Given the description of an element on the screen output the (x, y) to click on. 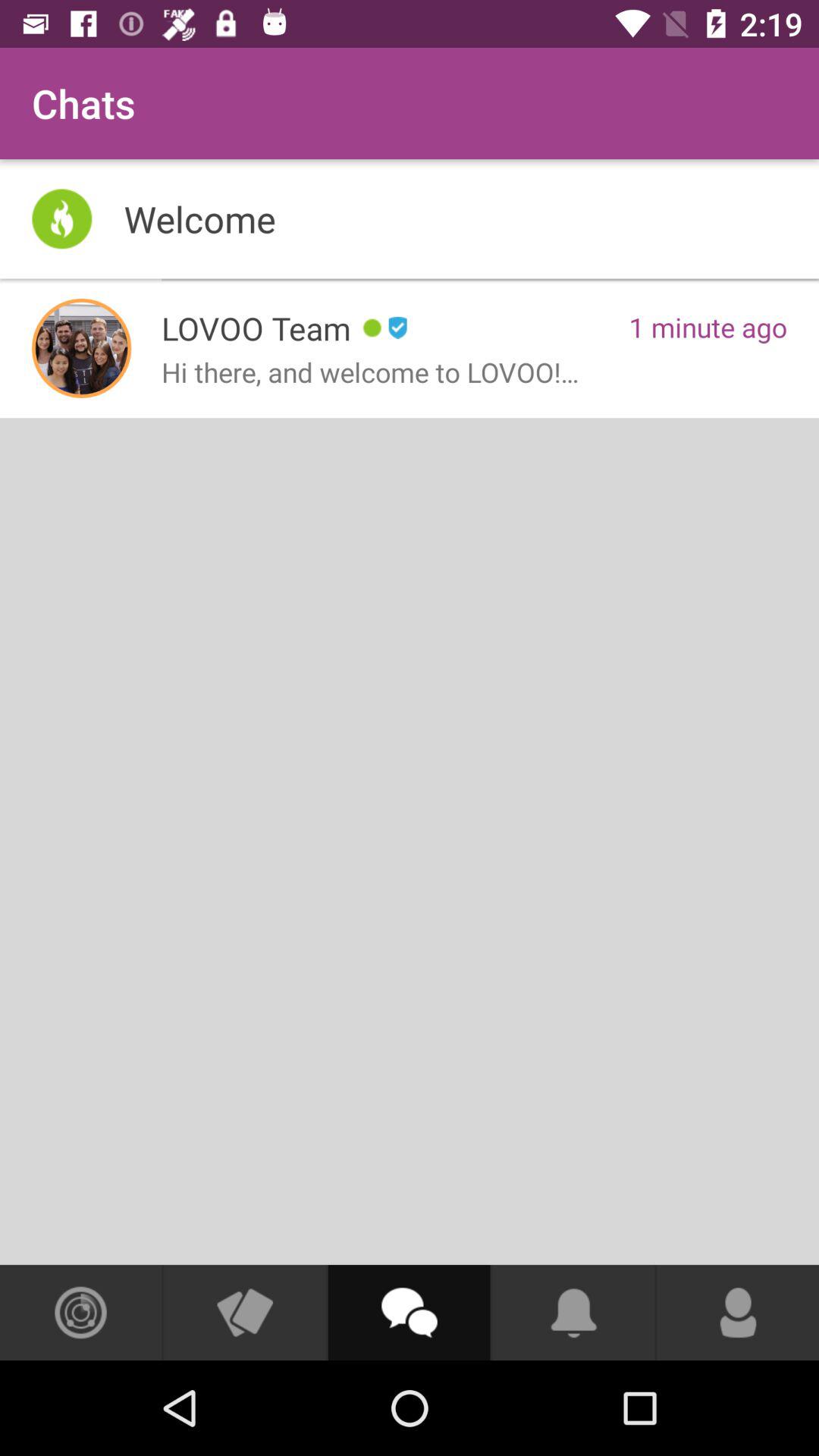
view profile (81, 348)
